Given the description of an element on the screen output the (x, y) to click on. 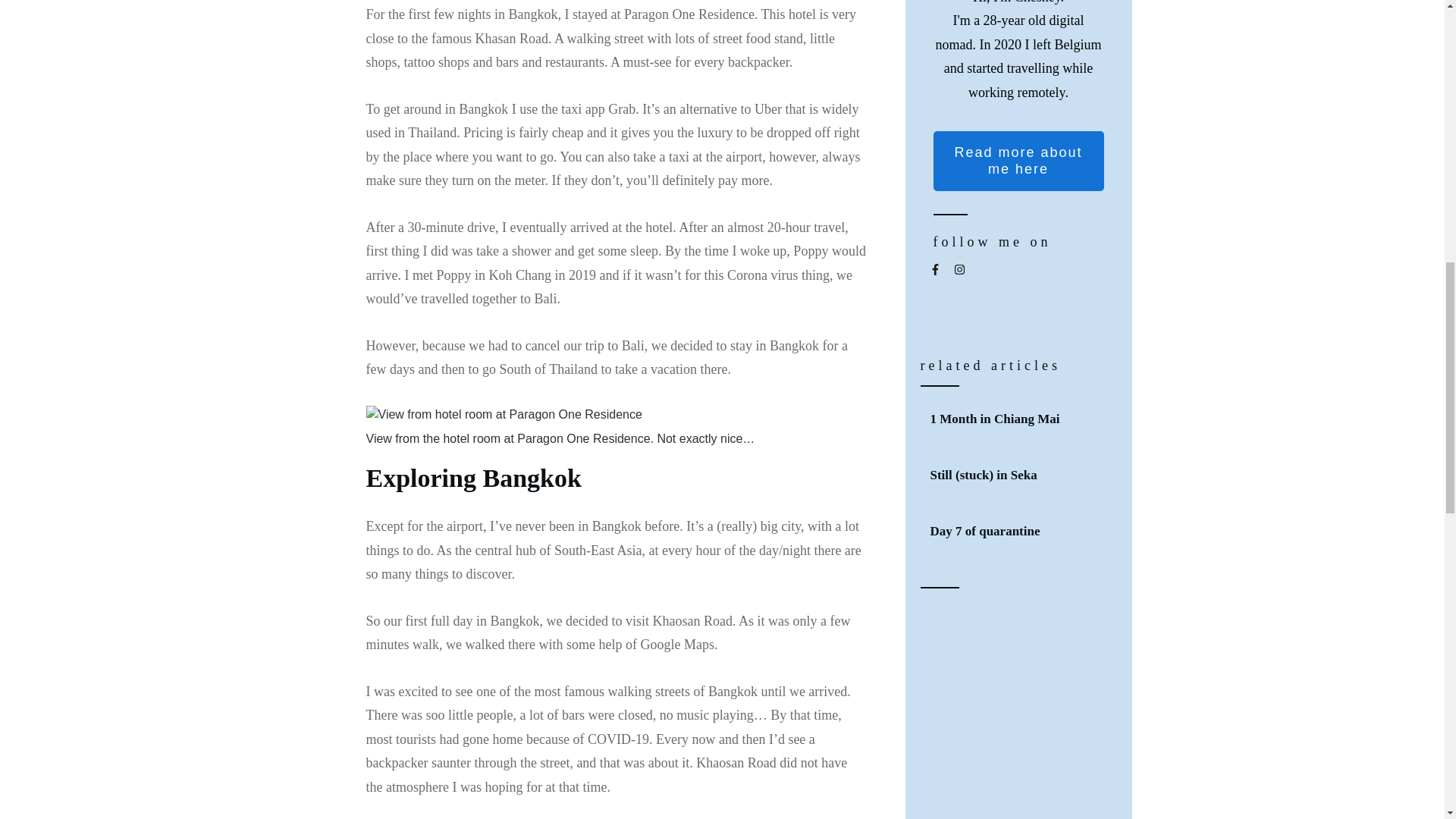
Day 7 of quarantine (984, 531)
Day 7 of quarantine (984, 531)
1 Month in Chiang Mai (994, 418)
1 Month in Chiang Mai (1018, 419)
Read more about me here (1018, 160)
1 Month in Chiang Mai (994, 418)
Day 7 of quarantine (1018, 531)
